Given the description of an element on the screen output the (x, y) to click on. 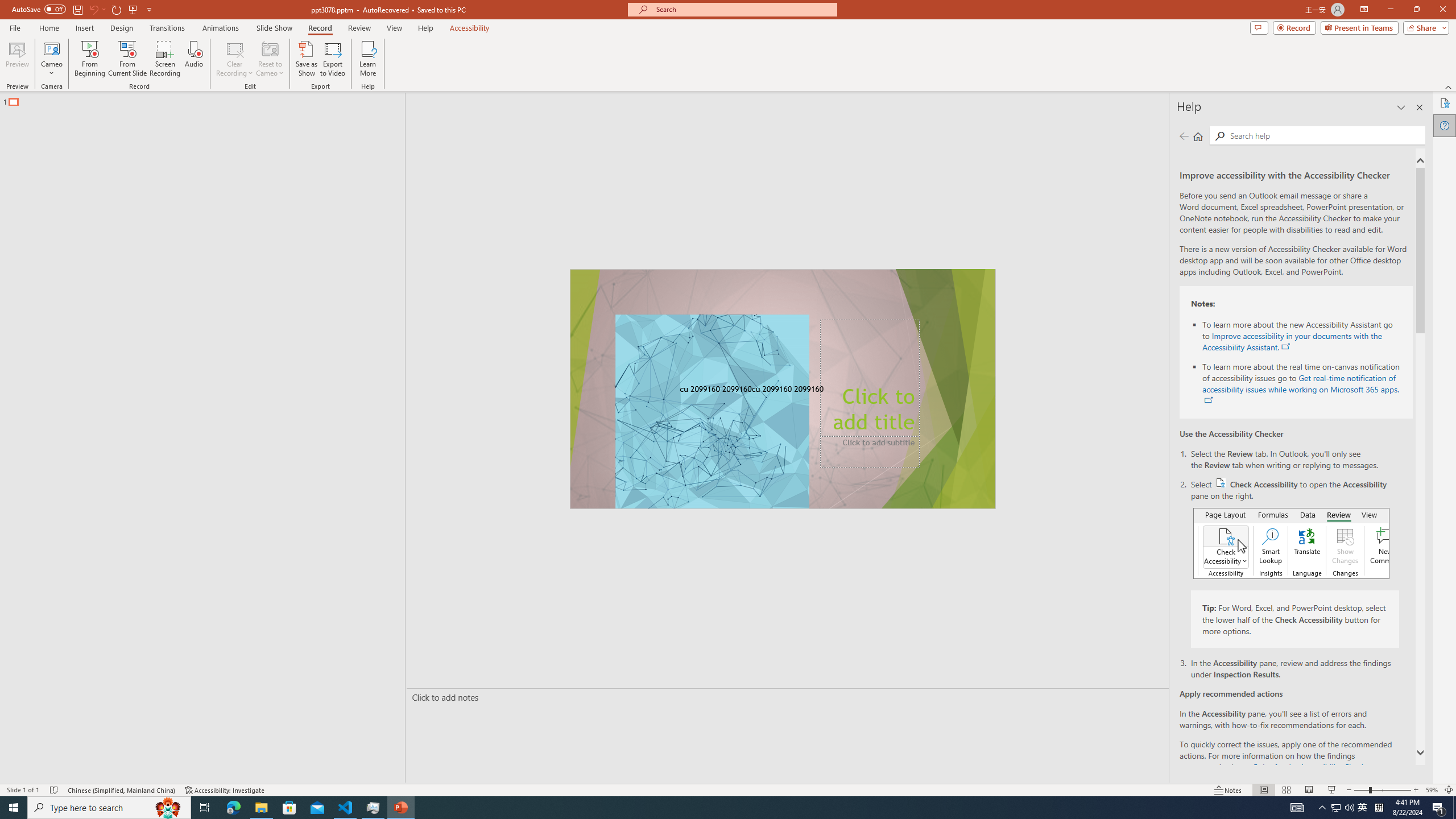
2403.02502v1.pdf (1340, 102)
(CVPR24)Matching Anything by Segmenting Anything.pdf (1275, 184)
